Given the description of an element on the screen output the (x, y) to click on. 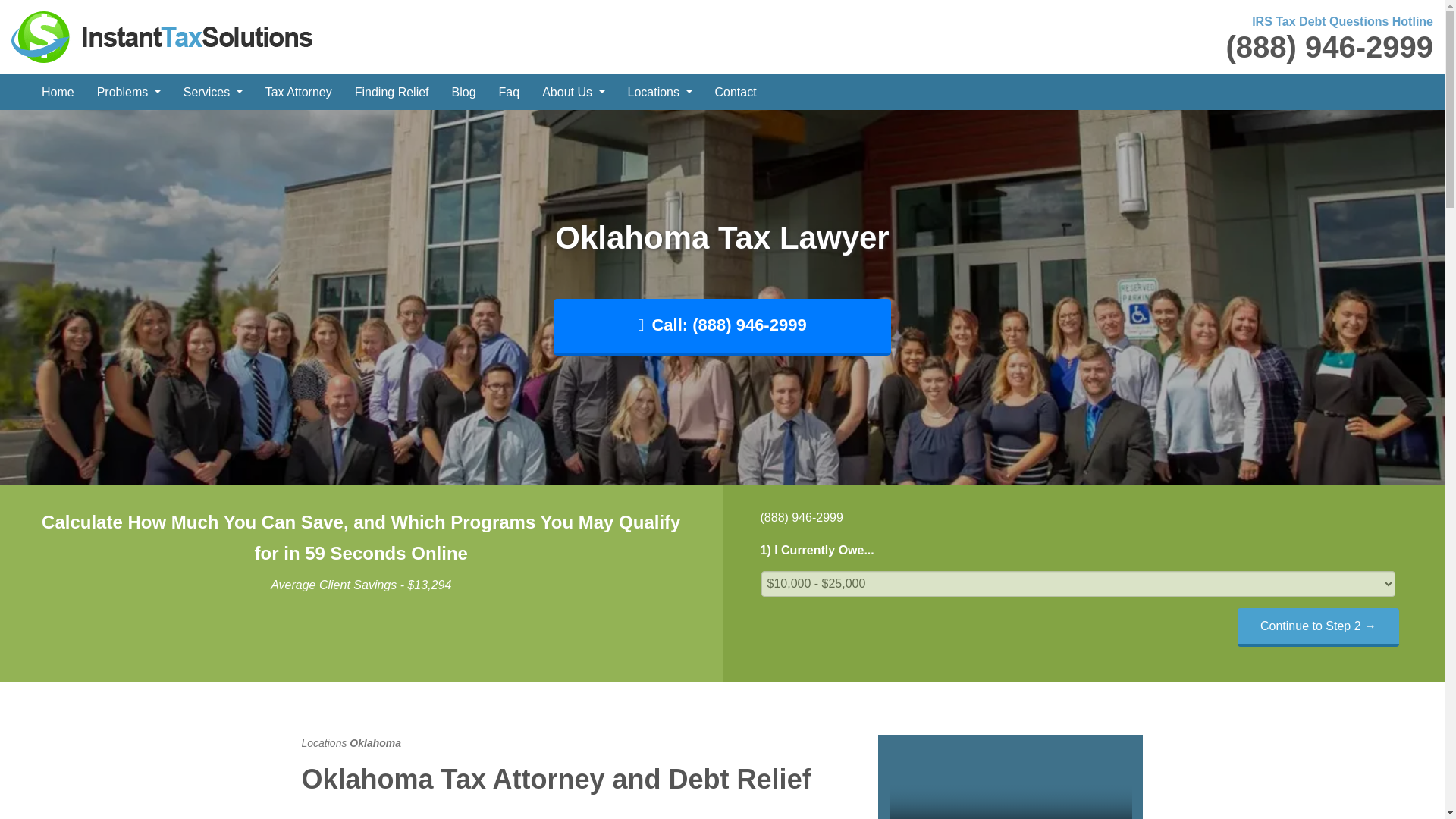
Faq (509, 91)
About Us (573, 91)
Tax Attorney (298, 91)
Locations (659, 91)
Blog (464, 91)
Home (57, 91)
Finding Relief (392, 91)
Services (212, 91)
Problems (128, 91)
Instant Tax Solutions (162, 35)
